Given the description of an element on the screen output the (x, y) to click on. 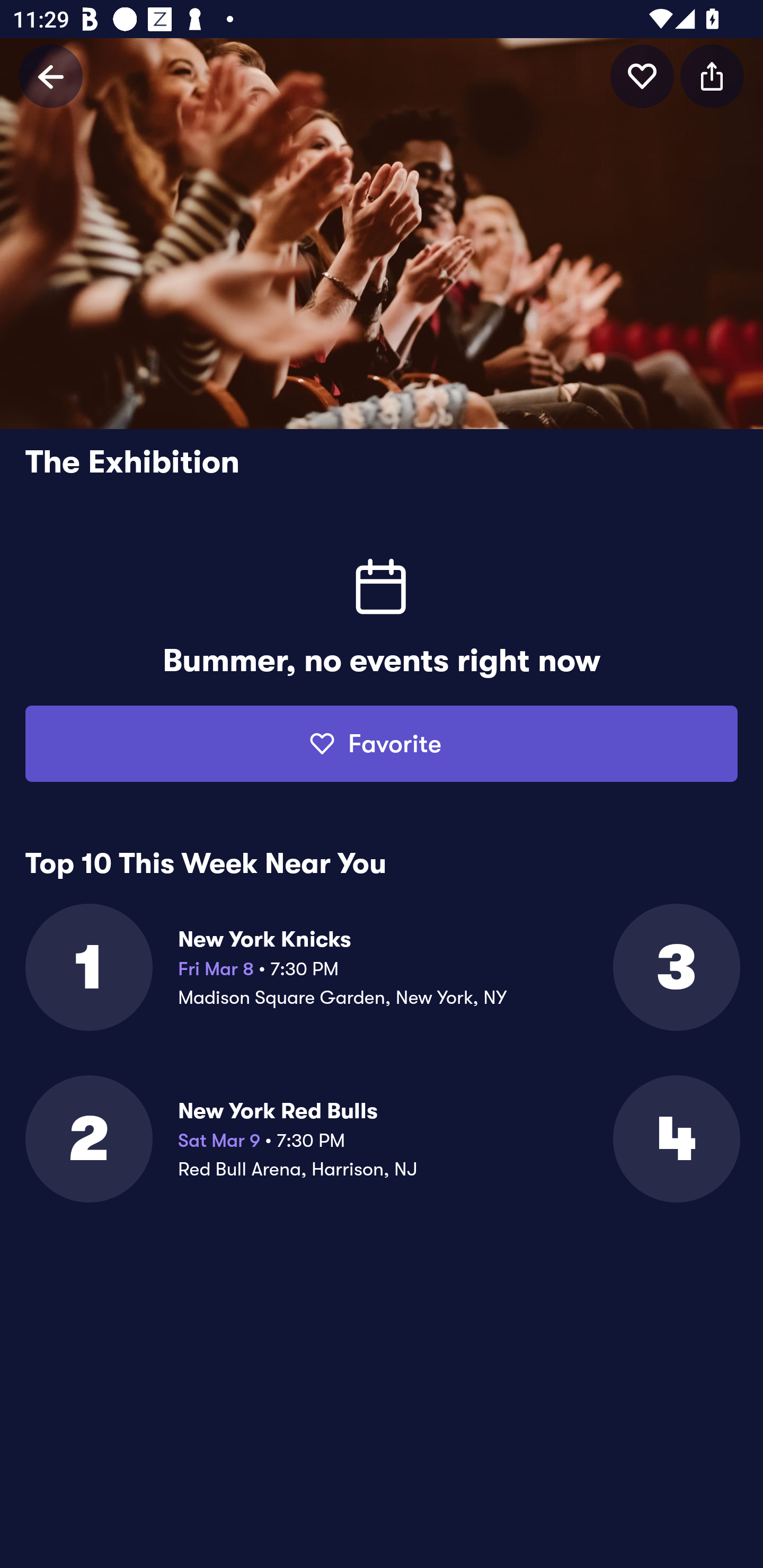
Back (50, 75)
icon button (641, 75)
icon button (711, 75)
Favorite (381, 743)
3 (675, 967)
4 (675, 1138)
